Given the description of an element on the screen output the (x, y) to click on. 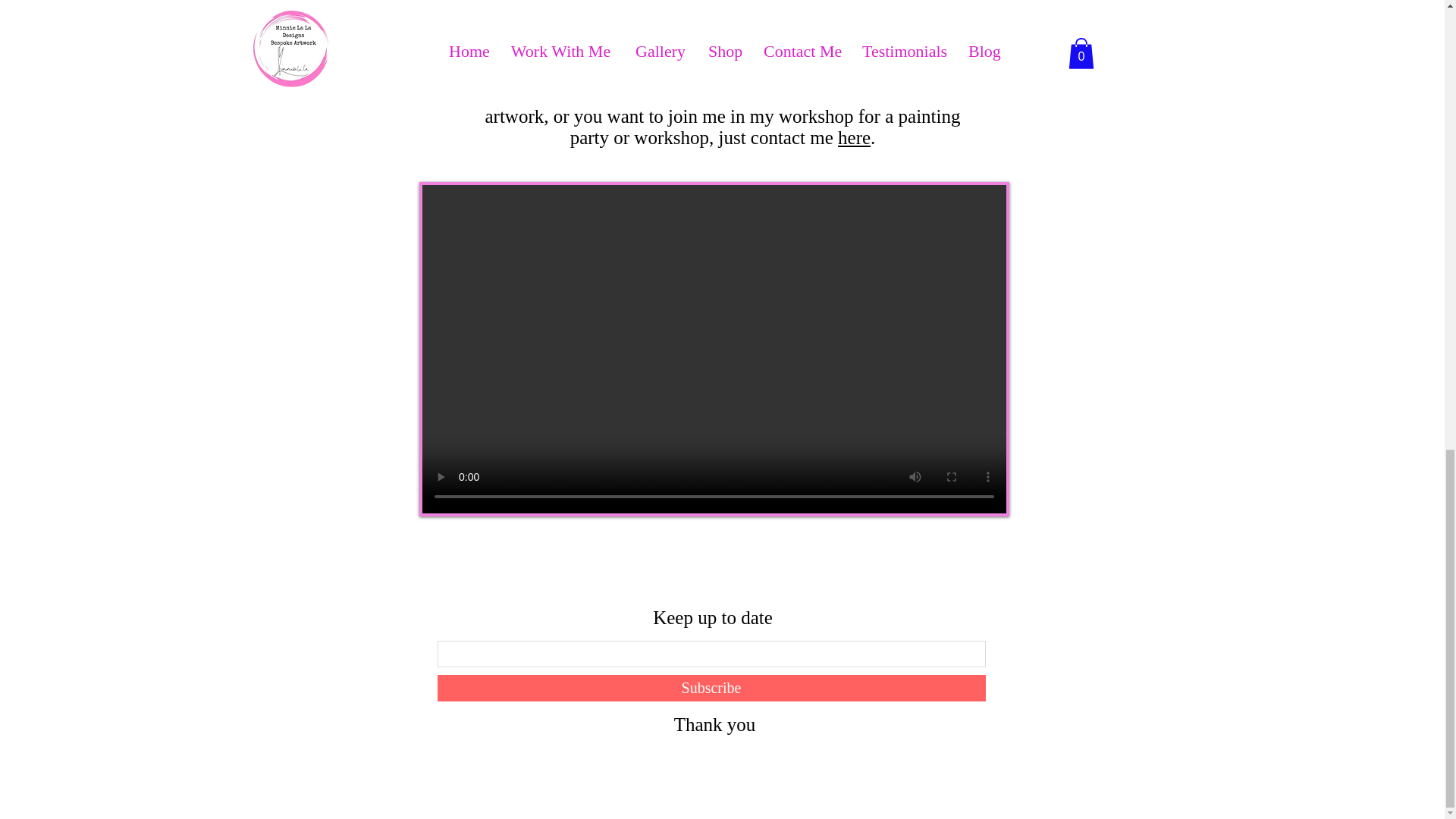
here (854, 137)
Subscribe (710, 687)
Wix.com (697, 762)
